Given the description of an element on the screen output the (x, y) to click on. 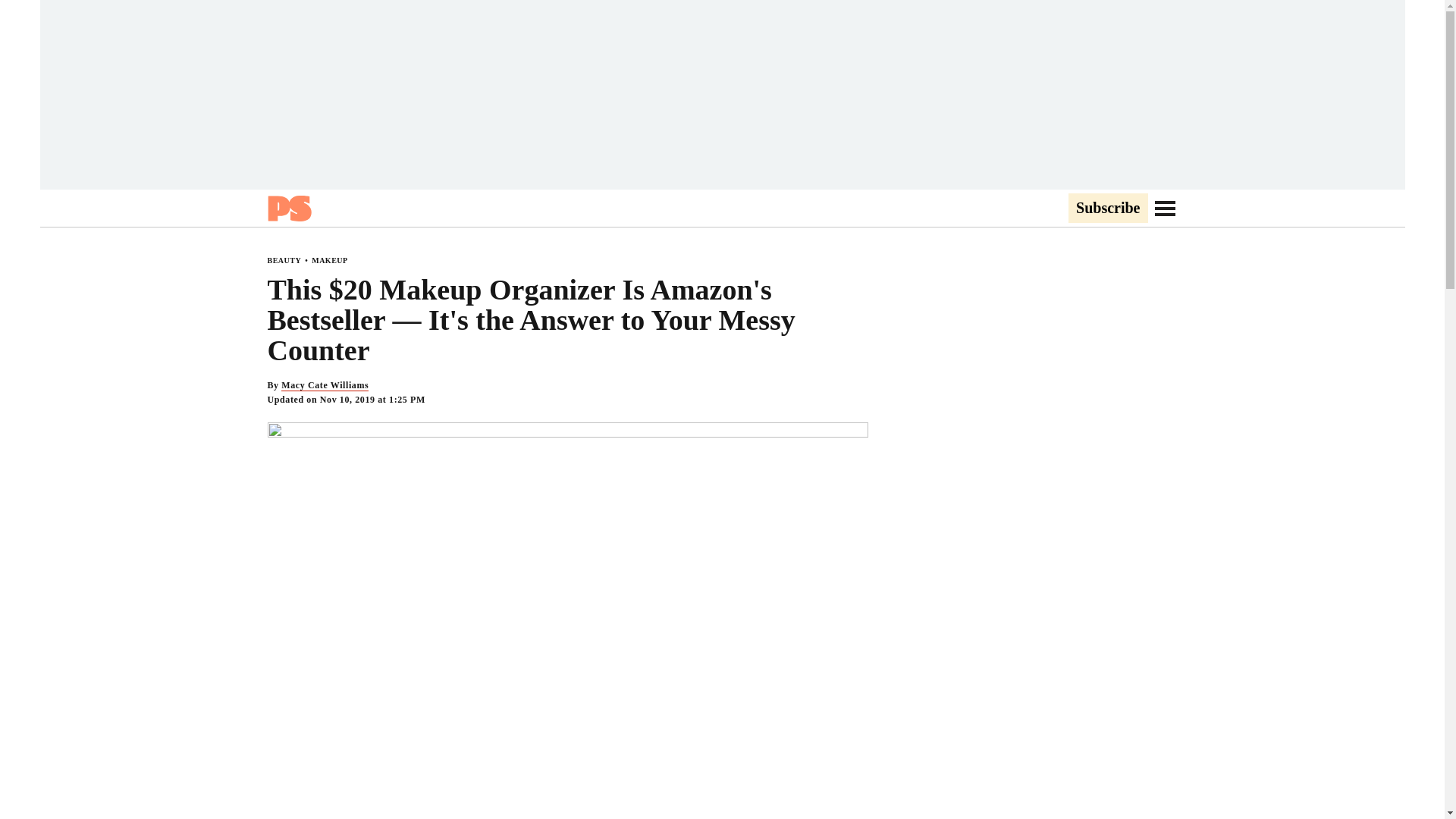
Go to Navigation (1164, 207)
Macy Cate Williams (324, 385)
MAKEUP (329, 260)
Subscribe (1107, 208)
Go to Navigation (1164, 207)
Popsugar (288, 208)
BEAUTY (283, 260)
